Given the description of an element on the screen output the (x, y) to click on. 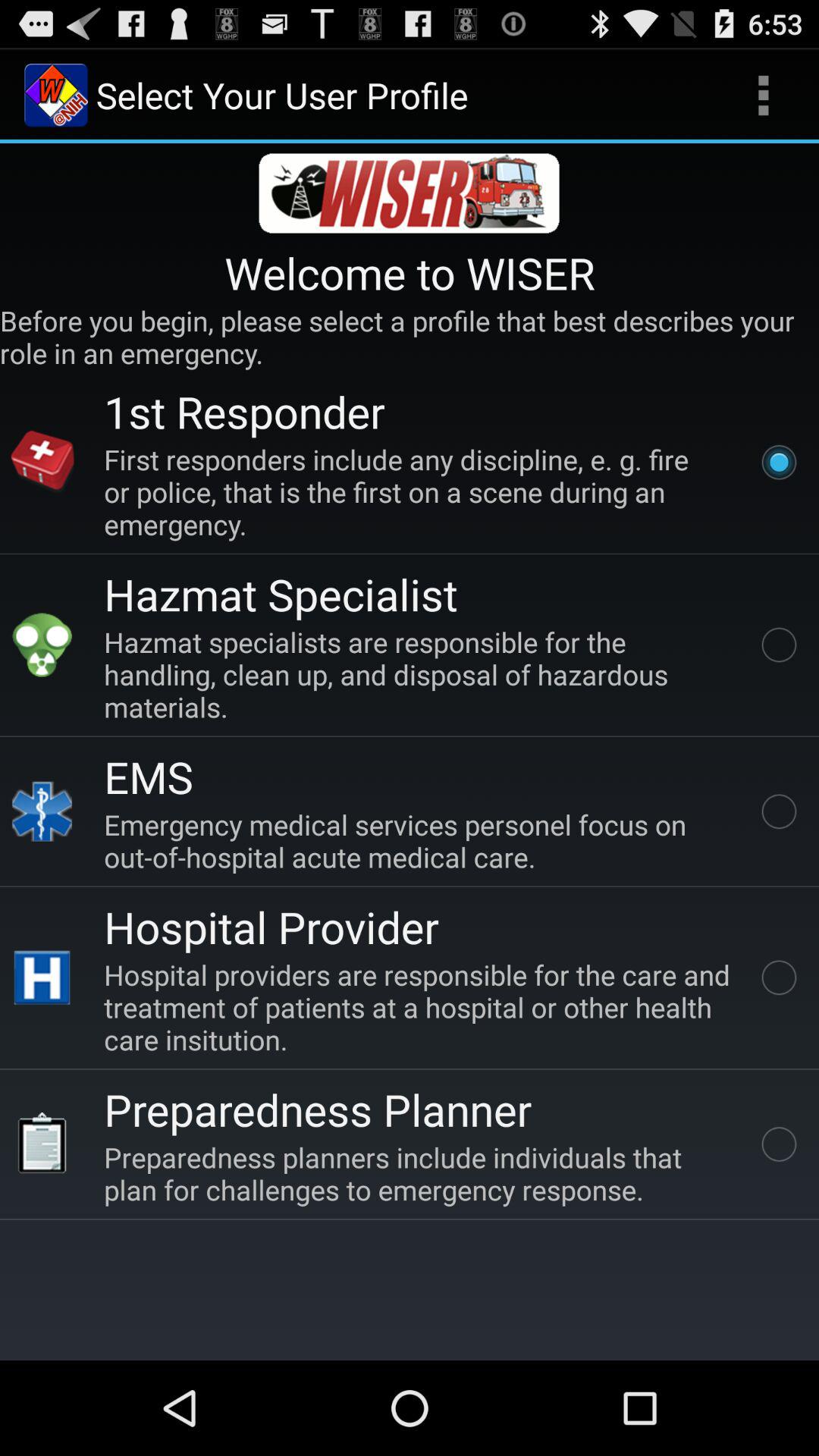
turn on item above hospital provider item (420, 840)
